Given the description of an element on the screen output the (x, y) to click on. 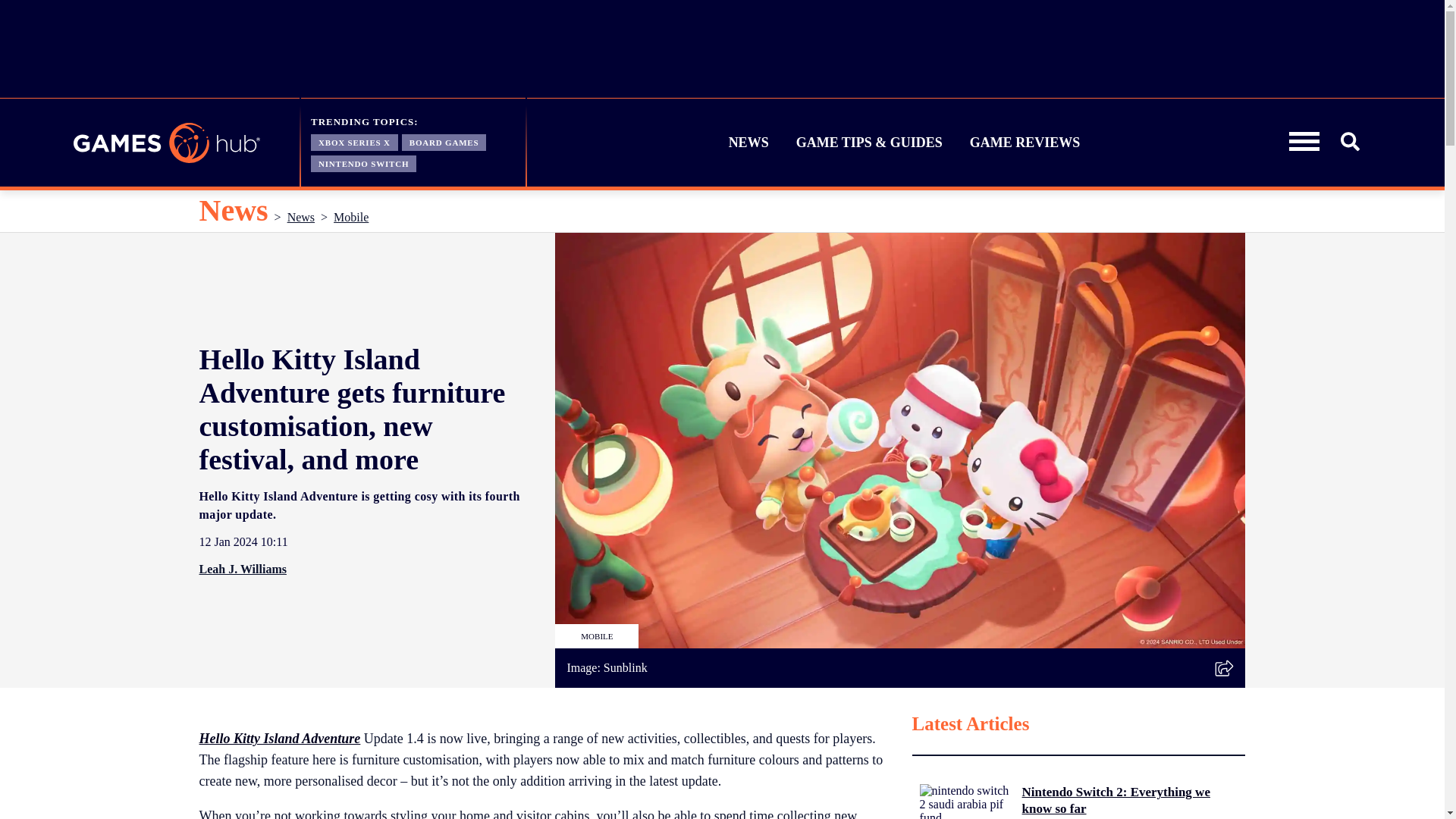
XBOX SERIES X (354, 141)
BOARD GAMES (443, 141)
NINTENDO SWITCH (363, 162)
NEWS (748, 142)
GAME REVIEWS (1025, 142)
